Given the description of an element on the screen output the (x, y) to click on. 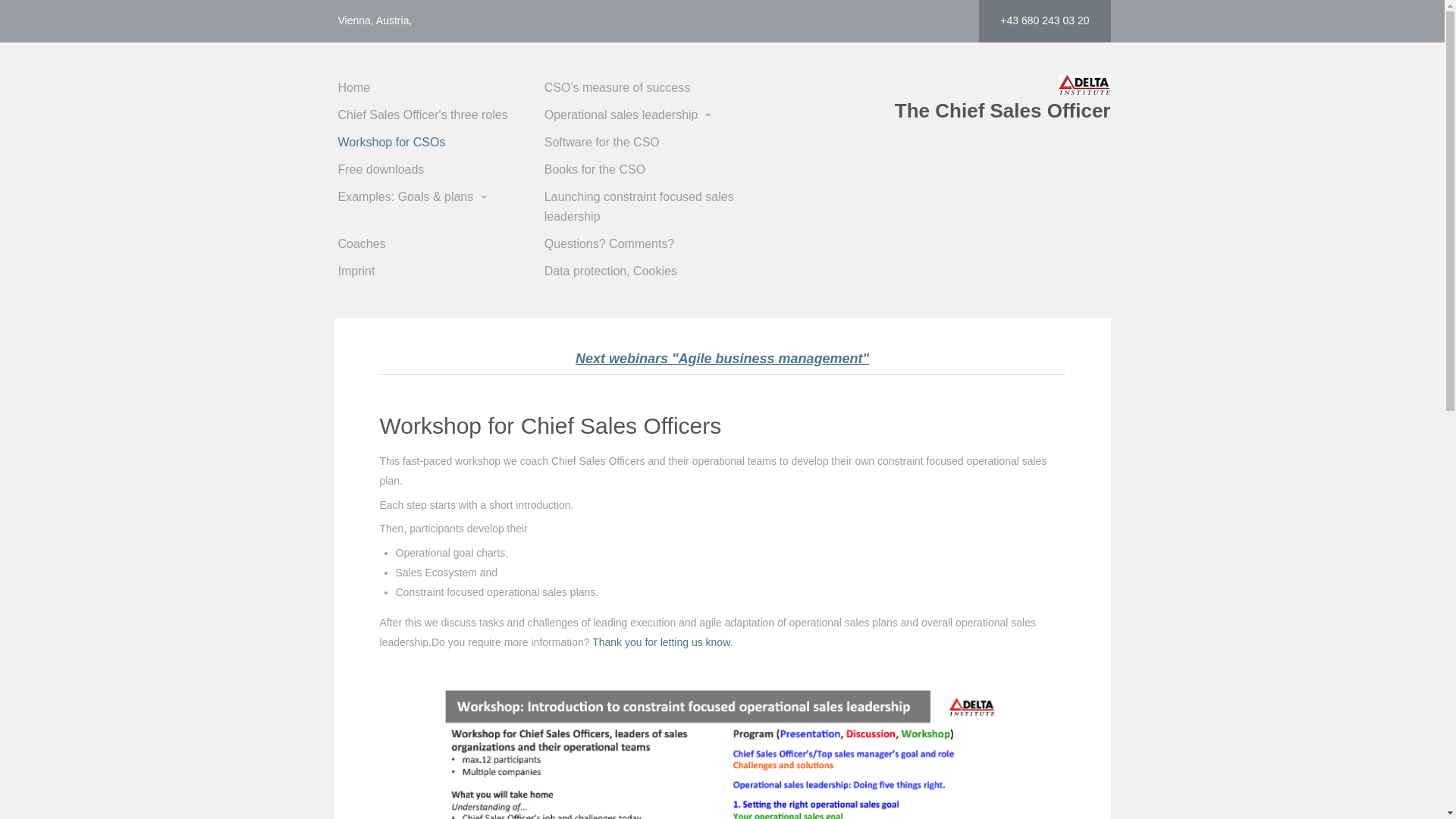
Coaches Element type: text (439, 243)
Next webinars "Agile business management" Element type: text (722, 358)
The Chief Sales Officer Element type: text (1002, 110)
Data protection, Cookies Element type: text (645, 271)
Launching constraint focused sales leadership Element type: text (645, 206)
Workshop for CSOs Element type: text (439, 142)
Imprint Element type: text (439, 271)
Thank you for letting us know Element type: text (660, 642)
Free downloads Element type: text (439, 169)
Software for the CSO Element type: text (645, 142)
CSO's measure of success Element type: text (645, 87)
Books for the CSO Element type: text (645, 169)
Home Element type: text (439, 87)
Chief Sales Officer's three roles Element type: text (439, 114)
Questions? Comments? Element type: text (645, 243)
